Given the description of an element on the screen output the (x, y) to click on. 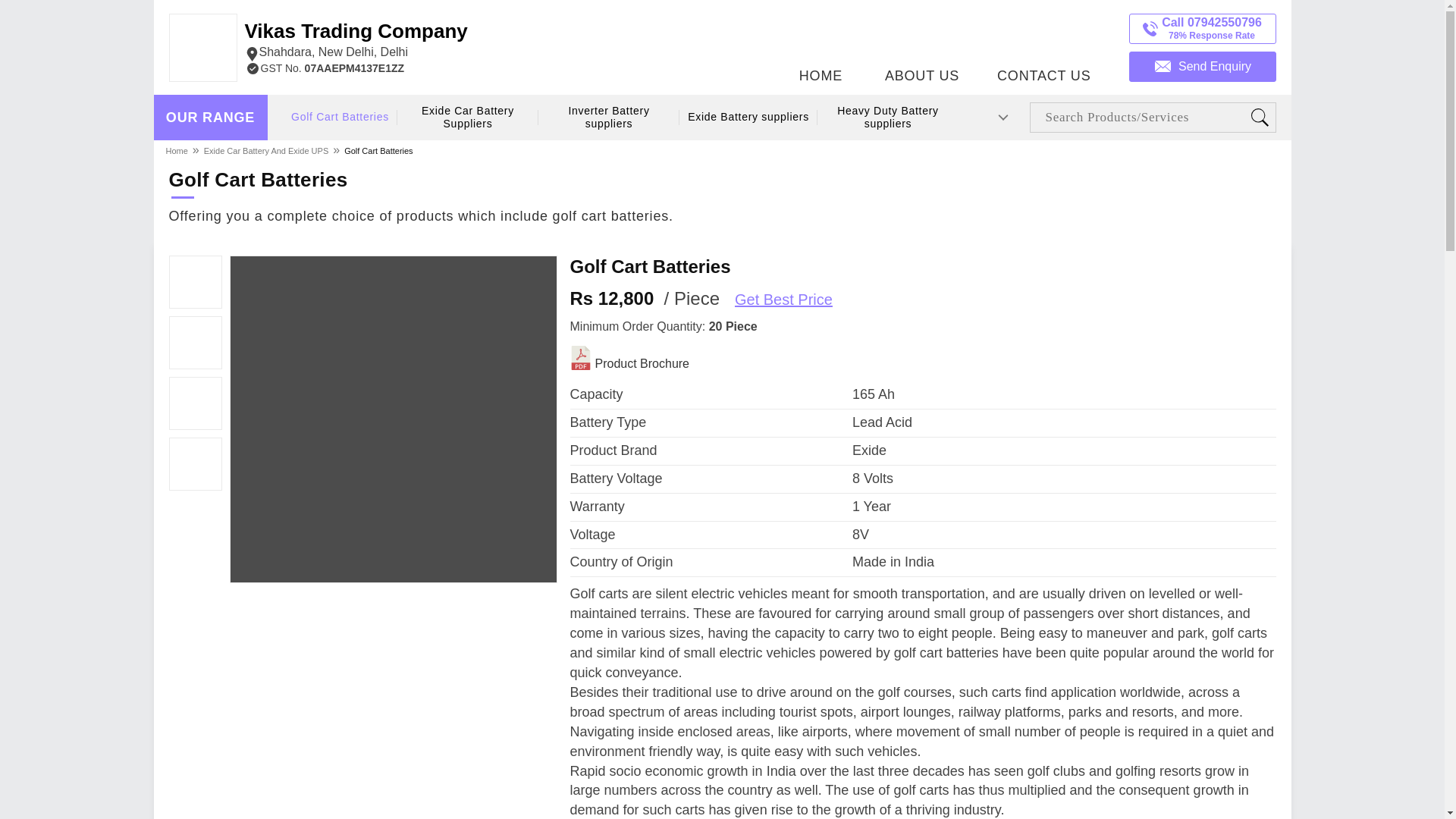
CONTACT US (1043, 43)
OUR RANGE (209, 117)
Golf Cart Batteries (340, 117)
Exide Car Battery And Exide UPS (265, 150)
Home (176, 150)
Heavy Duty Battery suppliers (887, 117)
Exide Battery suppliers (747, 117)
Inverter Battery suppliers (608, 117)
Exide Car Battery Suppliers (467, 117)
Golf Cart Batteries (378, 150)
ABOUT US (355, 41)
